Given the description of an element on the screen output the (x, y) to click on. 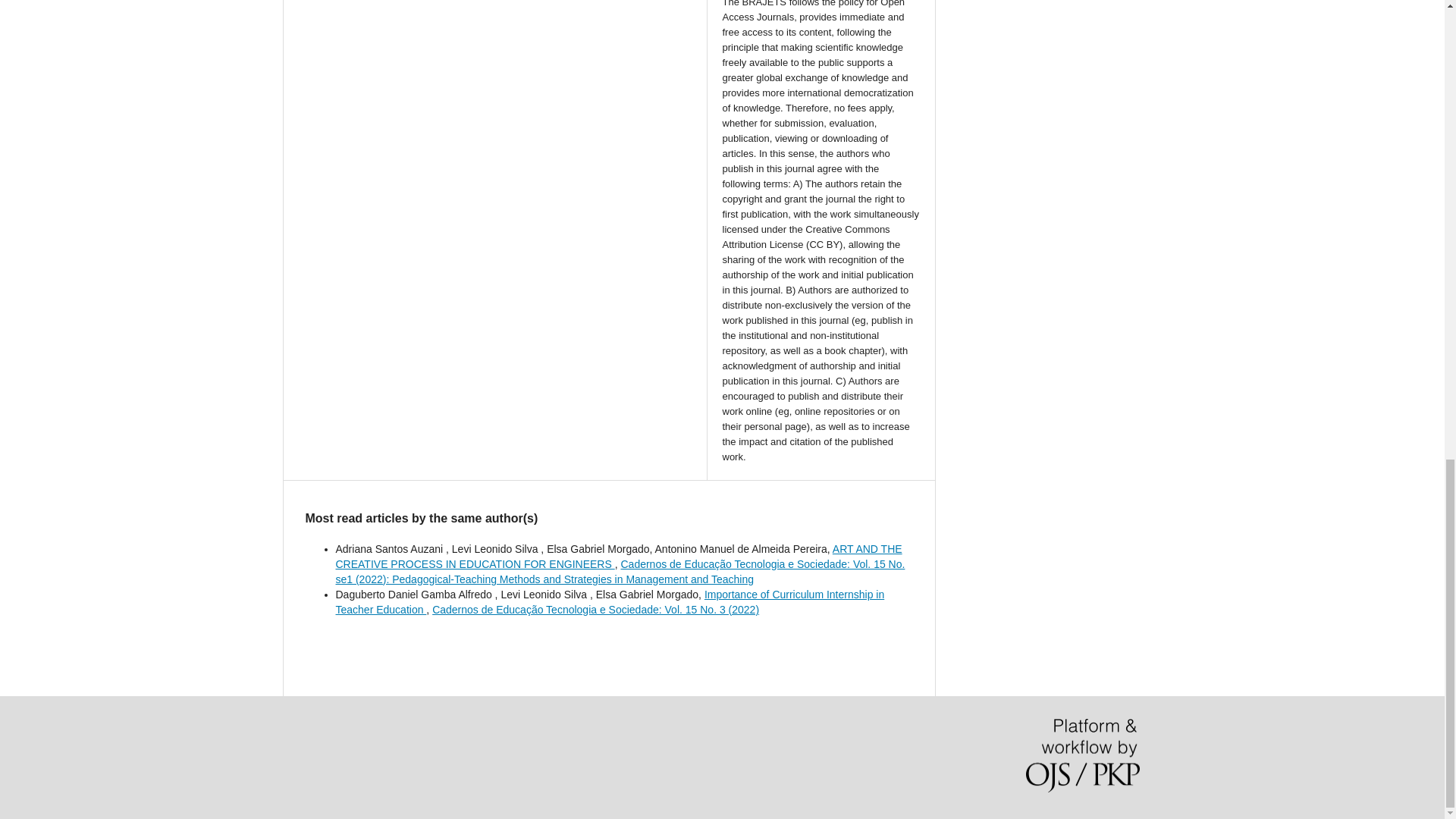
Importance of Curriculum Internship in Teacher Education (608, 601)
ART AND THE CREATIVE PROCESS IN EDUCATION FOR ENGINEERS (617, 556)
